Given the description of an element on the screen output the (x, y) to click on. 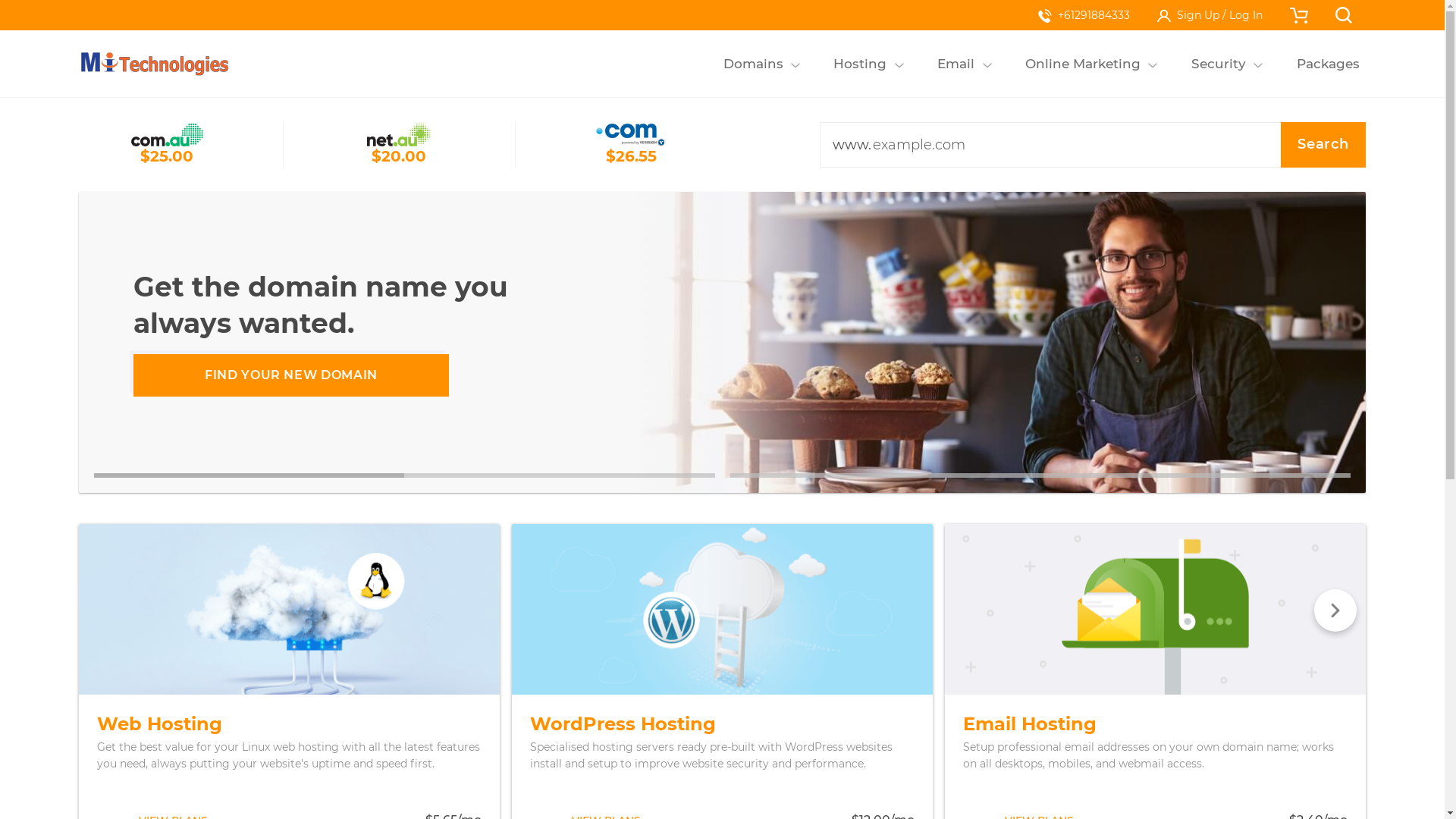
Email Element type: text (956, 63)
Domains Element type: text (752, 63)
Packages Element type: text (1327, 63)
+61291884333 Element type: text (1083, 15)
BUILD NOW Element type: text (290, 375)
Security Element type: text (1218, 63)
Search Element type: text (1322, 144)
Hosting Element type: text (860, 63)
Online Marketing Element type: text (1083, 63)
